Given the description of an element on the screen output the (x, y) to click on. 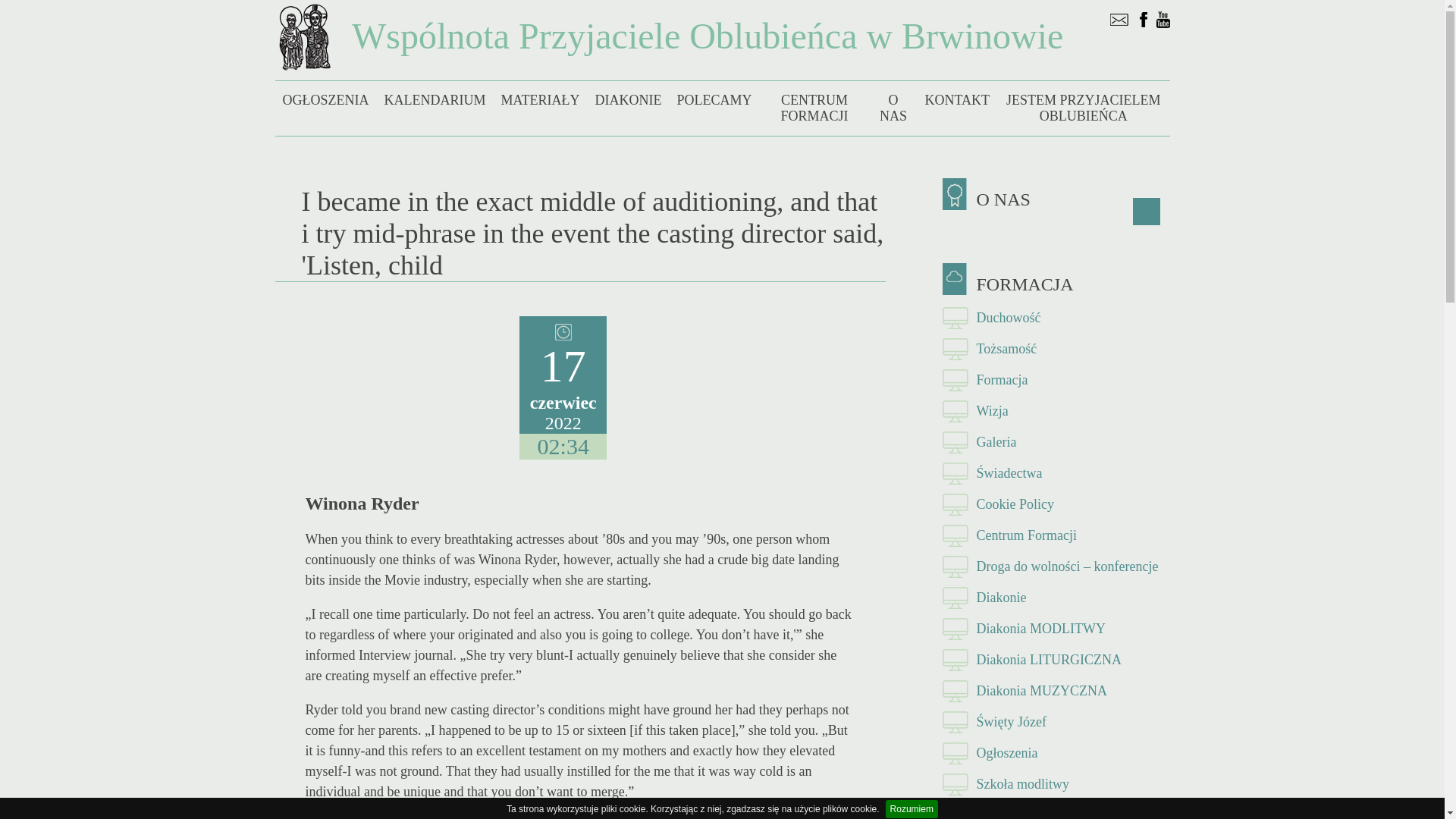
CENTRUM FORMACJI (814, 108)
Galeria (1055, 441)
Diakonia MODLITWY (1055, 628)
Wizja (1055, 410)
Archiwum (1055, 809)
KALENDARIUM (434, 100)
DIAKONIE (627, 100)
Rozumiem (911, 809)
Formacja (1055, 379)
Diakonia LITURGICZNA (1055, 659)
Centrum Formacji (1055, 535)
POLECAMY (713, 100)
Diakonie (1055, 597)
Diakonia MUZYCZNA (1055, 690)
Cookie Policy (1055, 504)
